Given the description of an element on the screen output the (x, y) to click on. 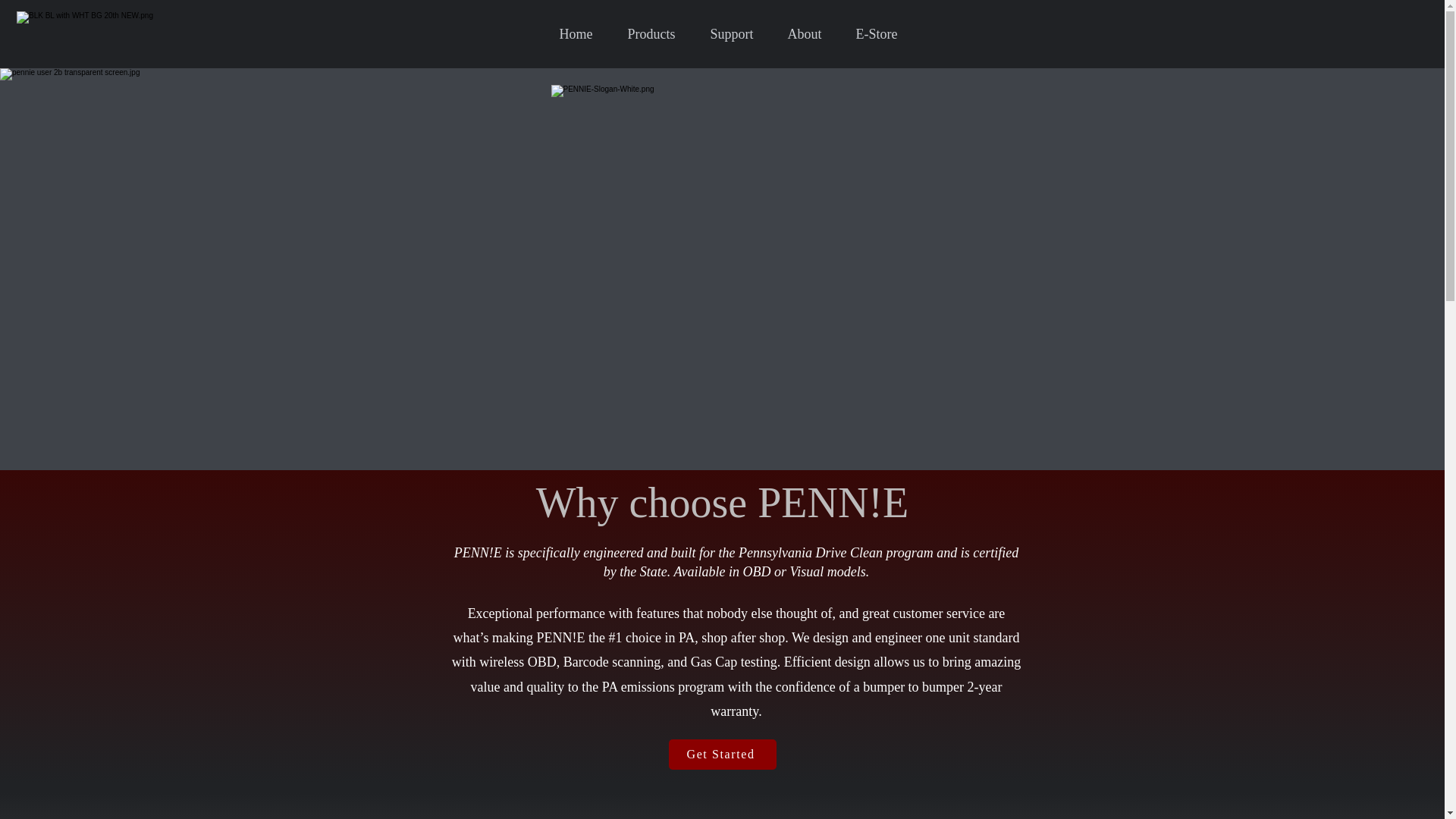
Support (726, 34)
Home (569, 34)
E-Store (870, 34)
Get Started (722, 754)
